Given the description of an element on the screen output the (x, y) to click on. 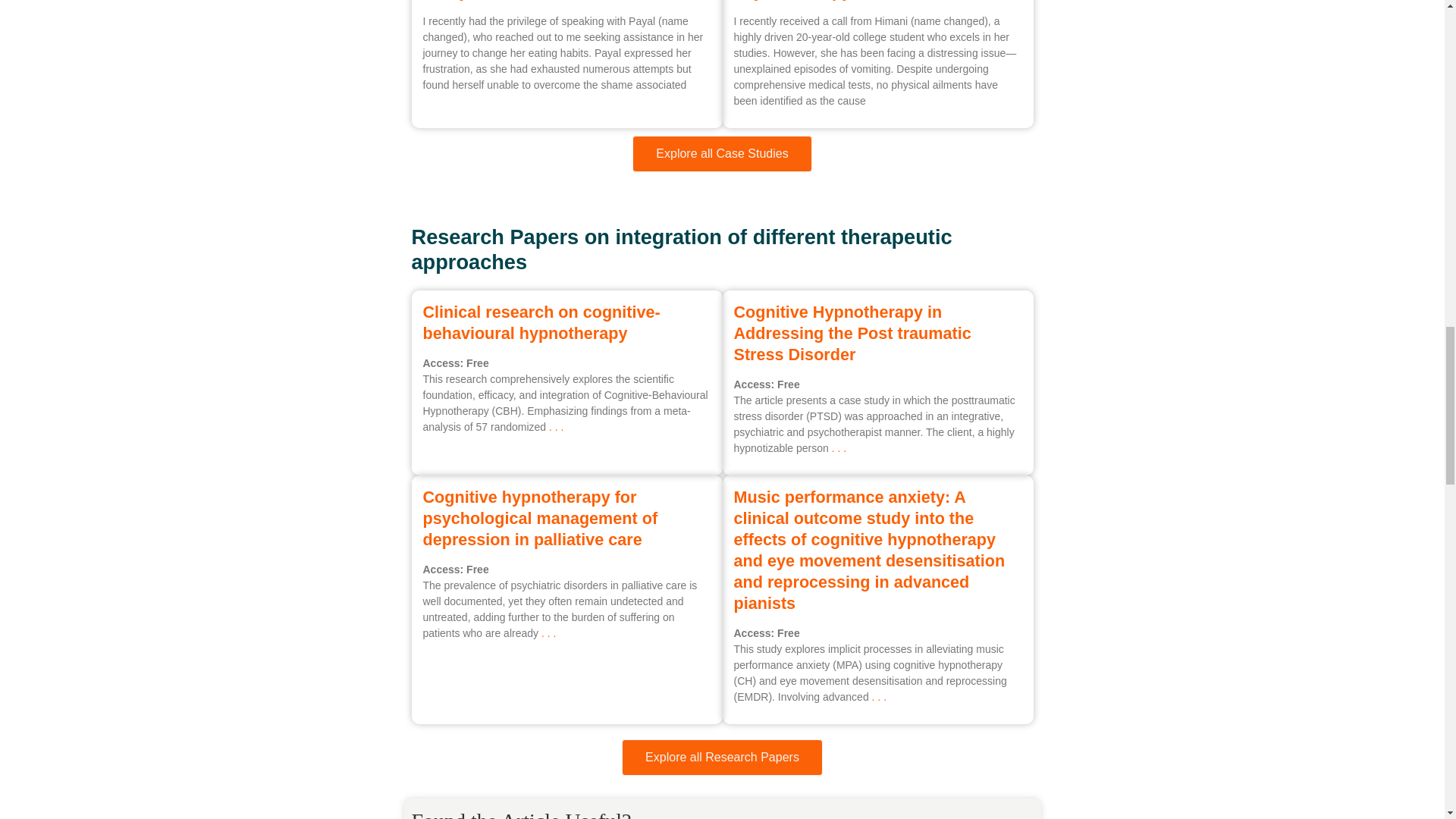
Explore all Case Studies (720, 153)
. . . (554, 426)
. . . (836, 448)
Clinical research on cognitive-behavioural hypnotherapy (542, 322)
